Given the description of an element on the screen output the (x, y) to click on. 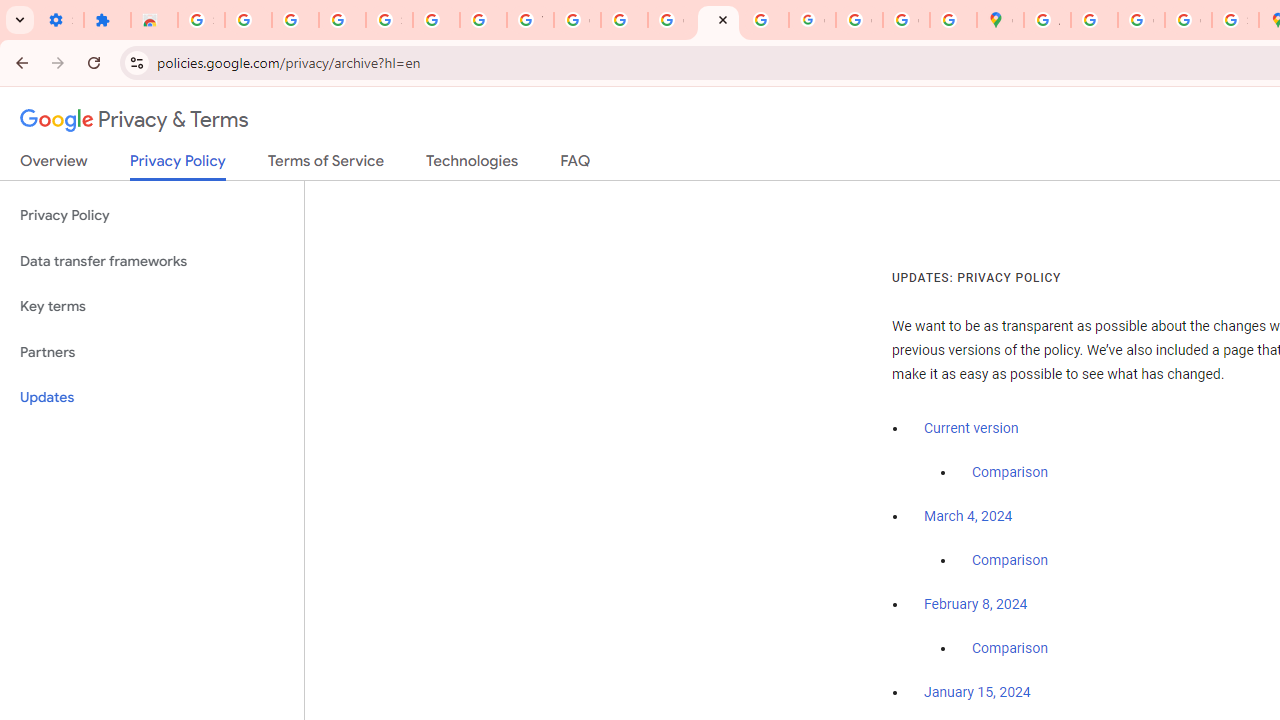
Google Maps (999, 20)
YouTube (530, 20)
Sign in - Google Accounts (389, 20)
March 4, 2024 (968, 517)
https://scholar.google.com/ (623, 20)
Reviews: Helix Fruit Jump Arcade Game (153, 20)
